Given the description of an element on the screen output the (x, y) to click on. 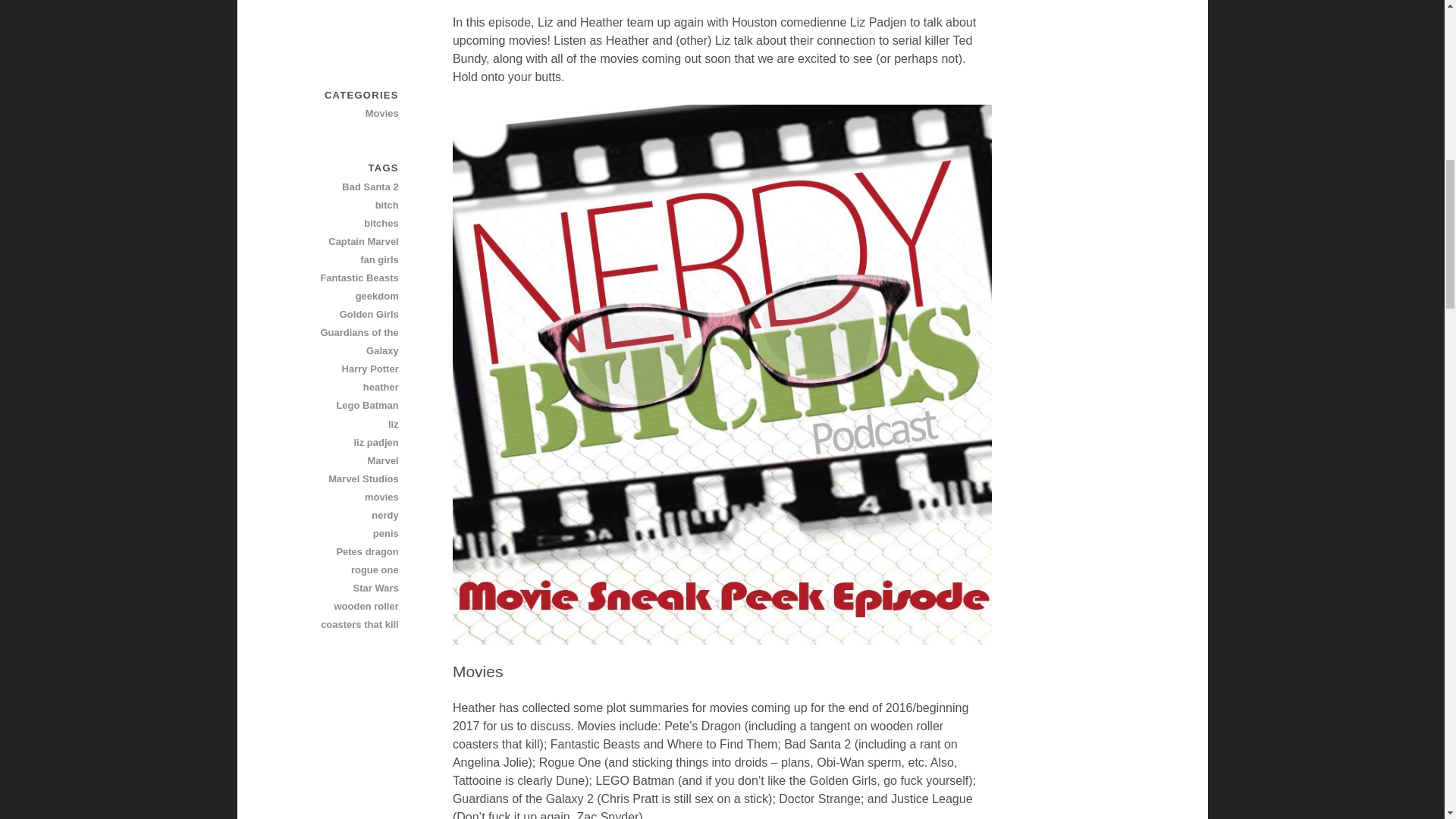
Movies (344, 113)
bitch (344, 205)
bitches (344, 223)
Captain Marvel (344, 241)
Bad Santa 2 (344, 187)
